Given the description of an element on the screen output the (x, y) to click on. 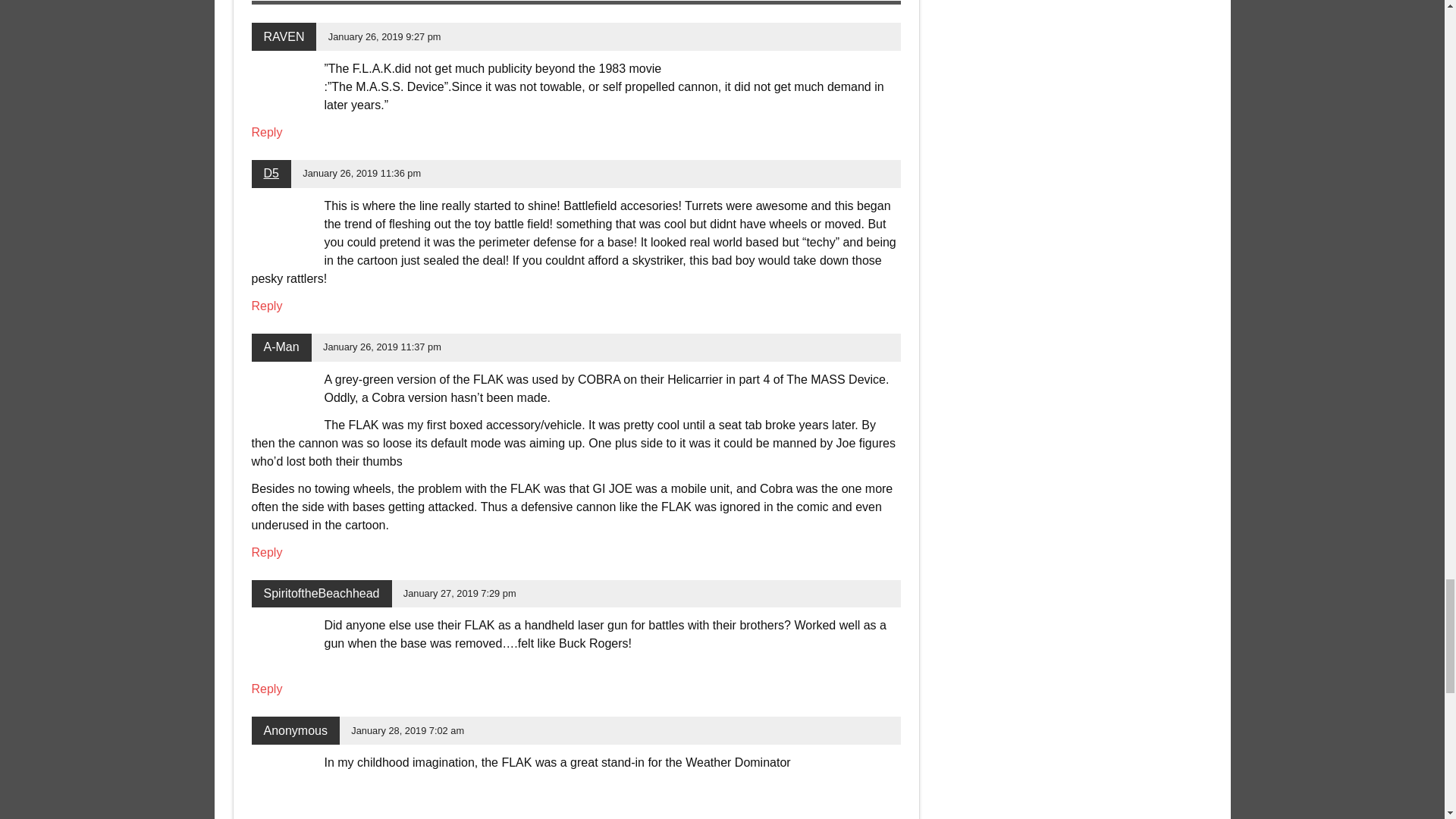
D5 (271, 173)
January 27, 2019 7:29 pm (459, 593)
January 28, 2019 7:02 am (407, 730)
Reply (266, 305)
Reply (266, 688)
Reply (266, 552)
Reply (266, 132)
January 26, 2019 11:36 pm (361, 173)
January 26, 2019 11:37 pm (382, 346)
January 26, 2019 9:27 pm (385, 36)
